Given the description of an element on the screen output the (x, y) to click on. 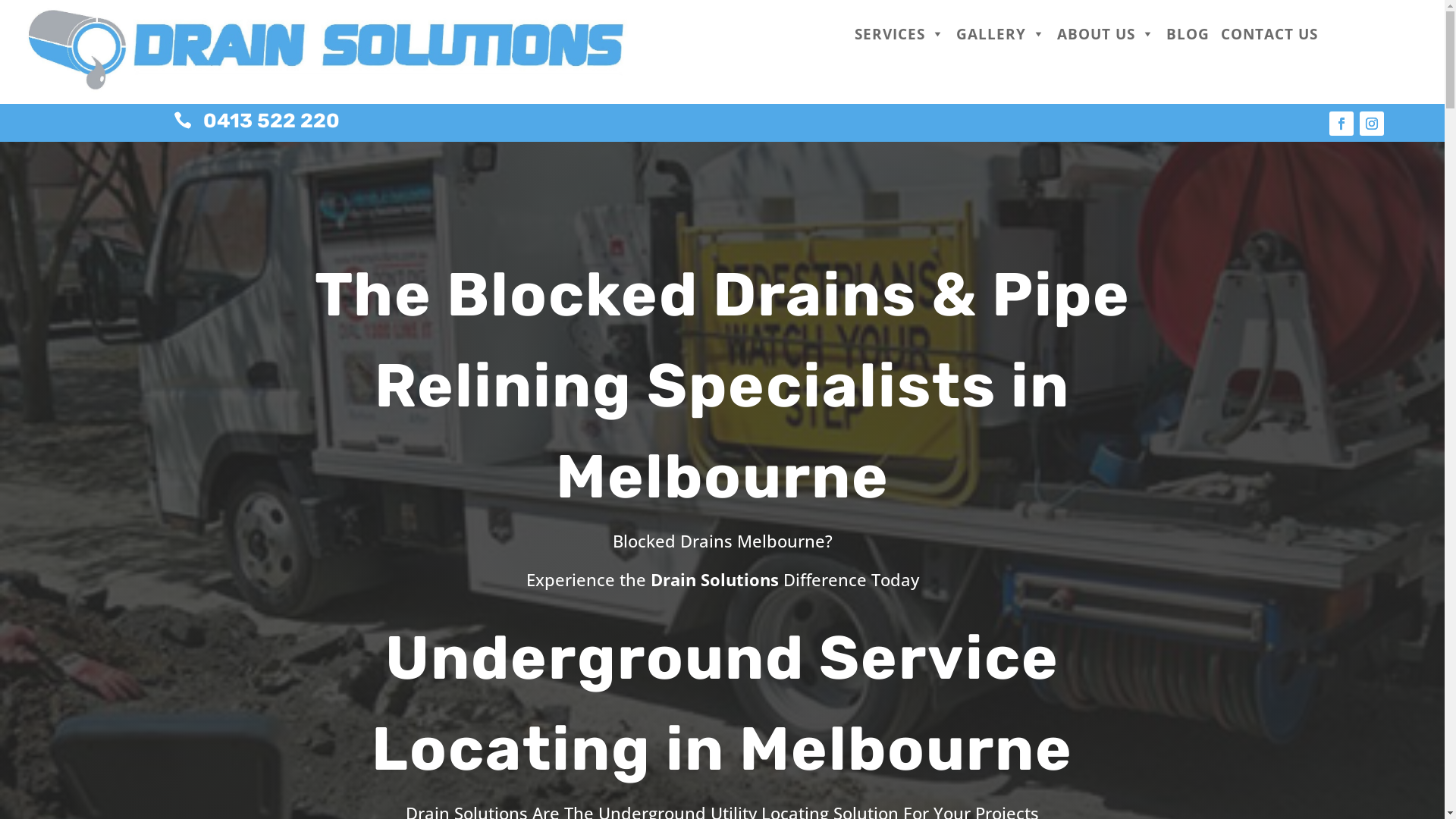
GALLERY Element type: text (1000, 33)
0413 522 220 Element type: text (271, 120)
CONTACT US Element type: text (1268, 33)
BLOG Element type: text (1187, 33)
Follow on Instagram Element type: hover (1371, 123)
ABOUT US Element type: text (1105, 33)
SERVICES Element type: text (899, 33)
Follow on Facebook Element type: hover (1341, 123)
Drain Solutions Element type: hover (326, 48)
